Given the description of an element on the screen output the (x, y) to click on. 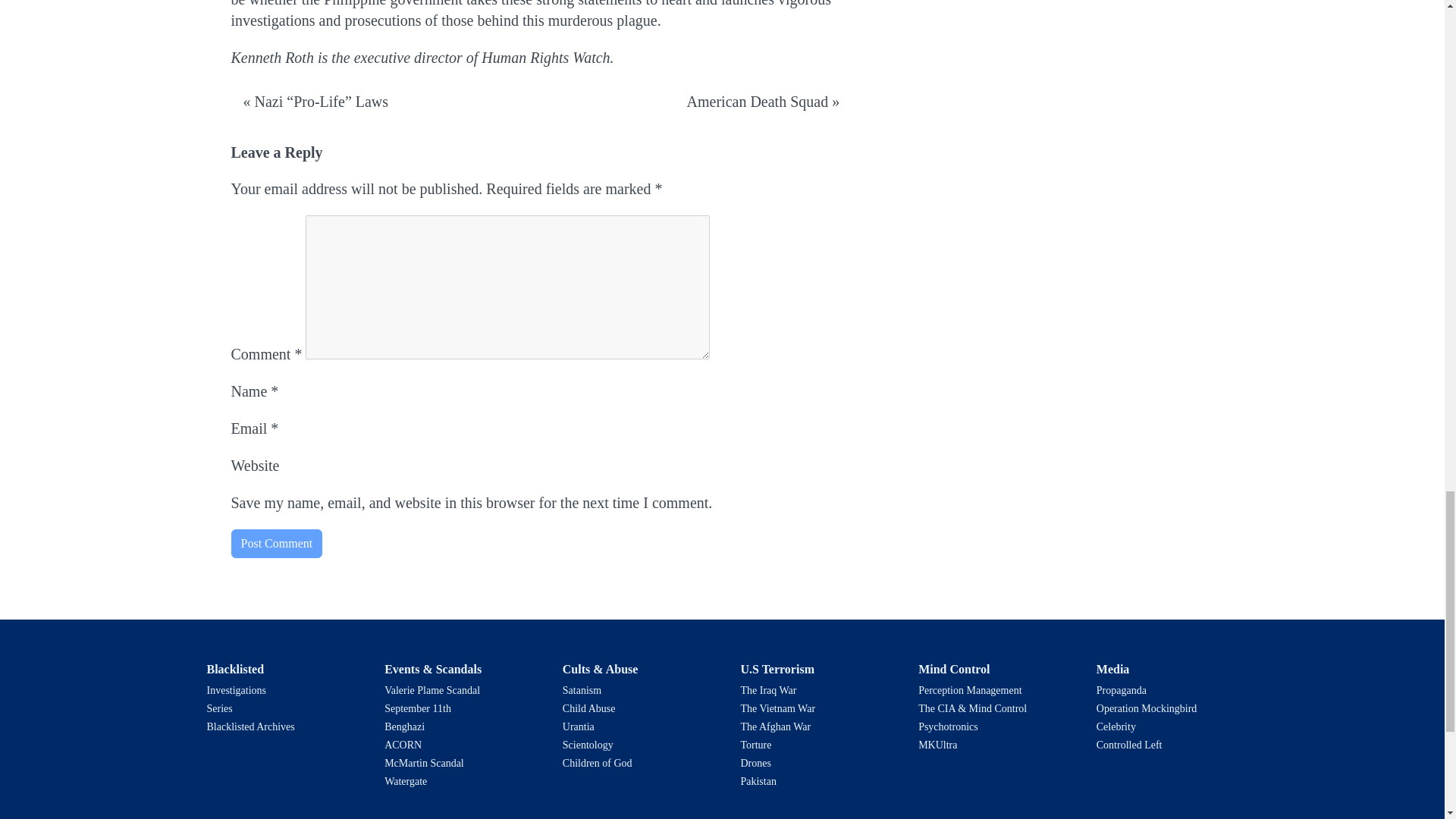
Post Comment (275, 543)
